Given the description of an element on the screen output the (x, y) to click on. 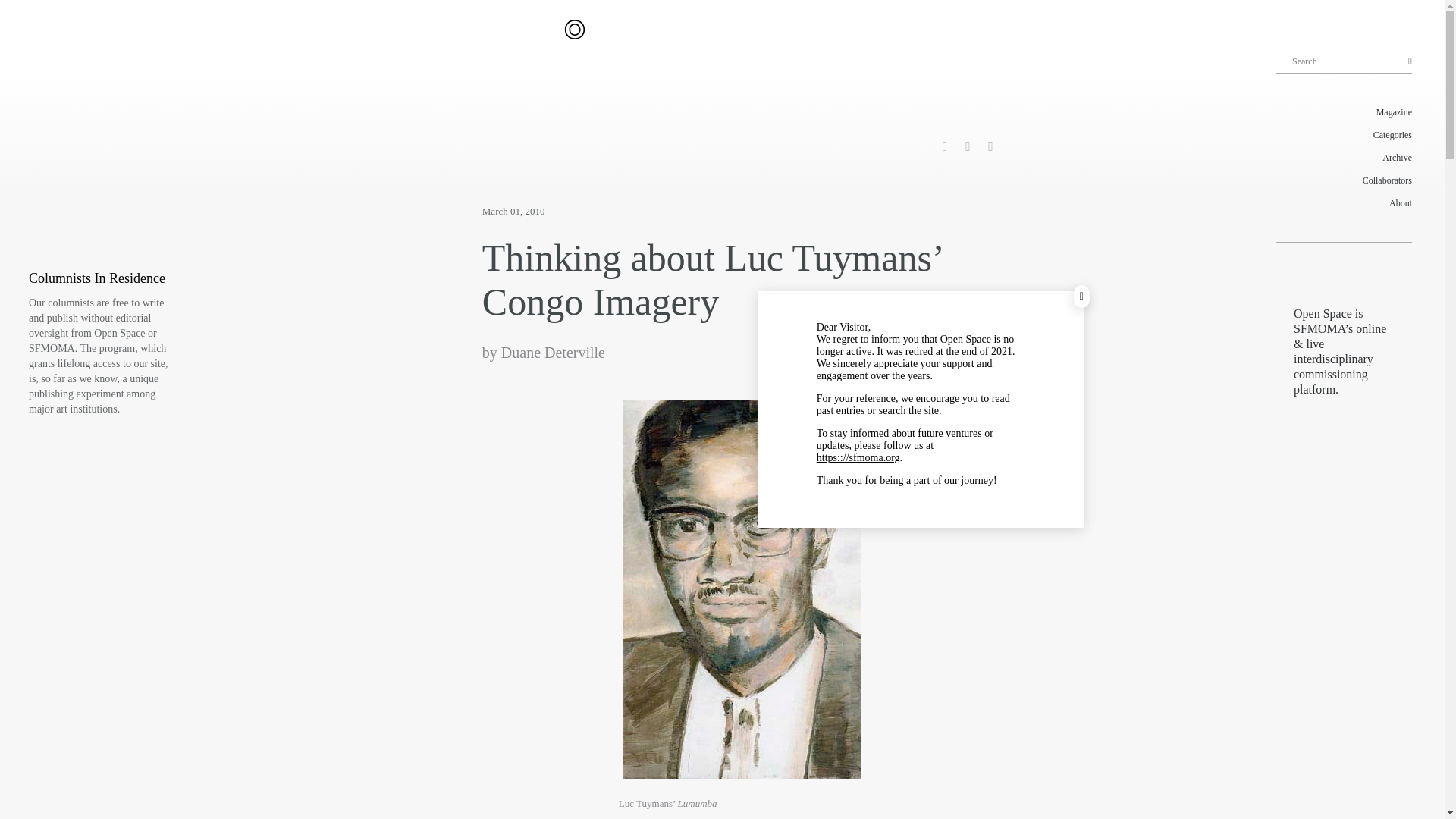
Magazine (1343, 111)
Columnists In Residence (97, 278)
View all posts in Columnists In Residence (97, 278)
Duane Deterville (552, 352)
Collaborators (1343, 179)
Archive (1343, 157)
Categories (1343, 134)
www.sfmoma.org (857, 457)
About (1343, 202)
